Given the description of an element on the screen output the (x, y) to click on. 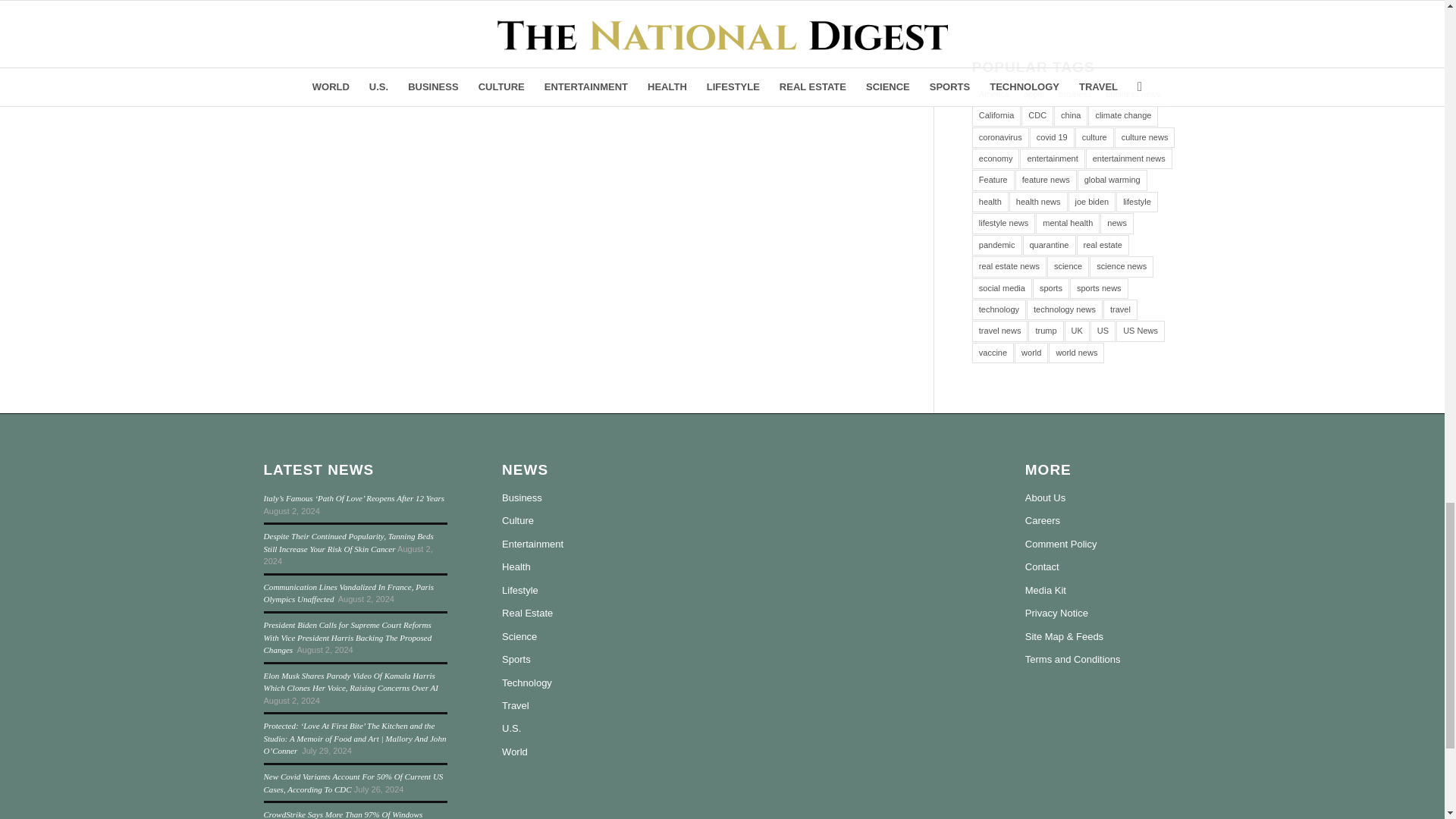
business (1074, 94)
apple (1033, 94)
business news (1133, 94)
America (994, 94)
